Given the description of an element on the screen output the (x, y) to click on. 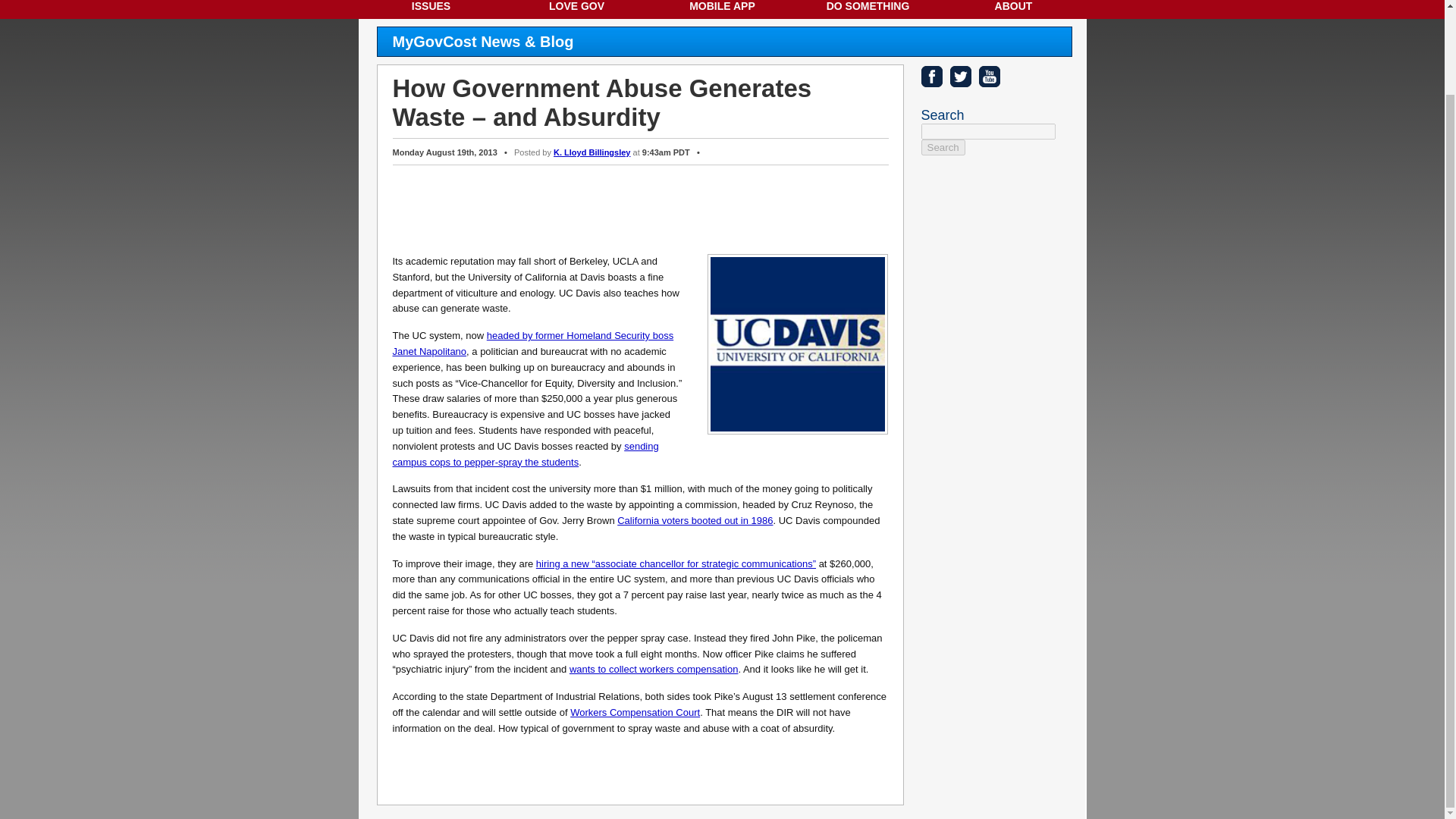
Search (941, 147)
MOBILE APP (721, 9)
headed by former Homeland Security boss Janet Napolitano (533, 343)
ISSUES (430, 9)
Workers Compensation Court (635, 712)
K. Lloyd Billingsley (591, 152)
California voters booted out in 1986 (695, 520)
Search (941, 147)
sending campus cops to pepper-spray the students (526, 453)
wants to collect workers compensation (653, 668)
LOVE GOV (576, 9)
DO SOMETHING (867, 9)
ABOUT (1013, 9)
